Given the description of an element on the screen output the (x, y) to click on. 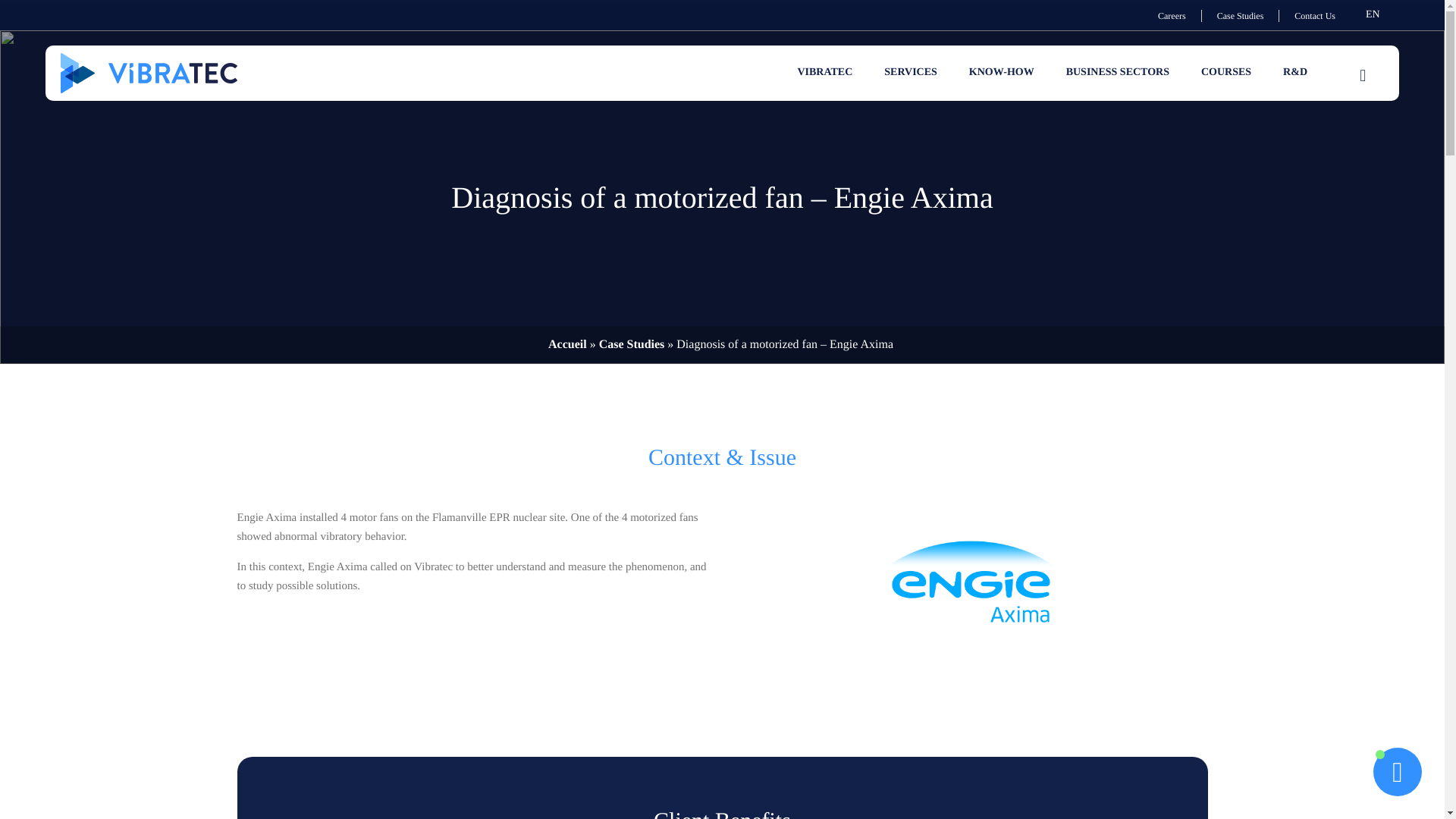
SERVICES (910, 72)
VIBRATEC (823, 72)
KNOW-HOW (1001, 72)
BUSINESS SECTORS (1117, 72)
